Given the description of an element on the screen output the (x, y) to click on. 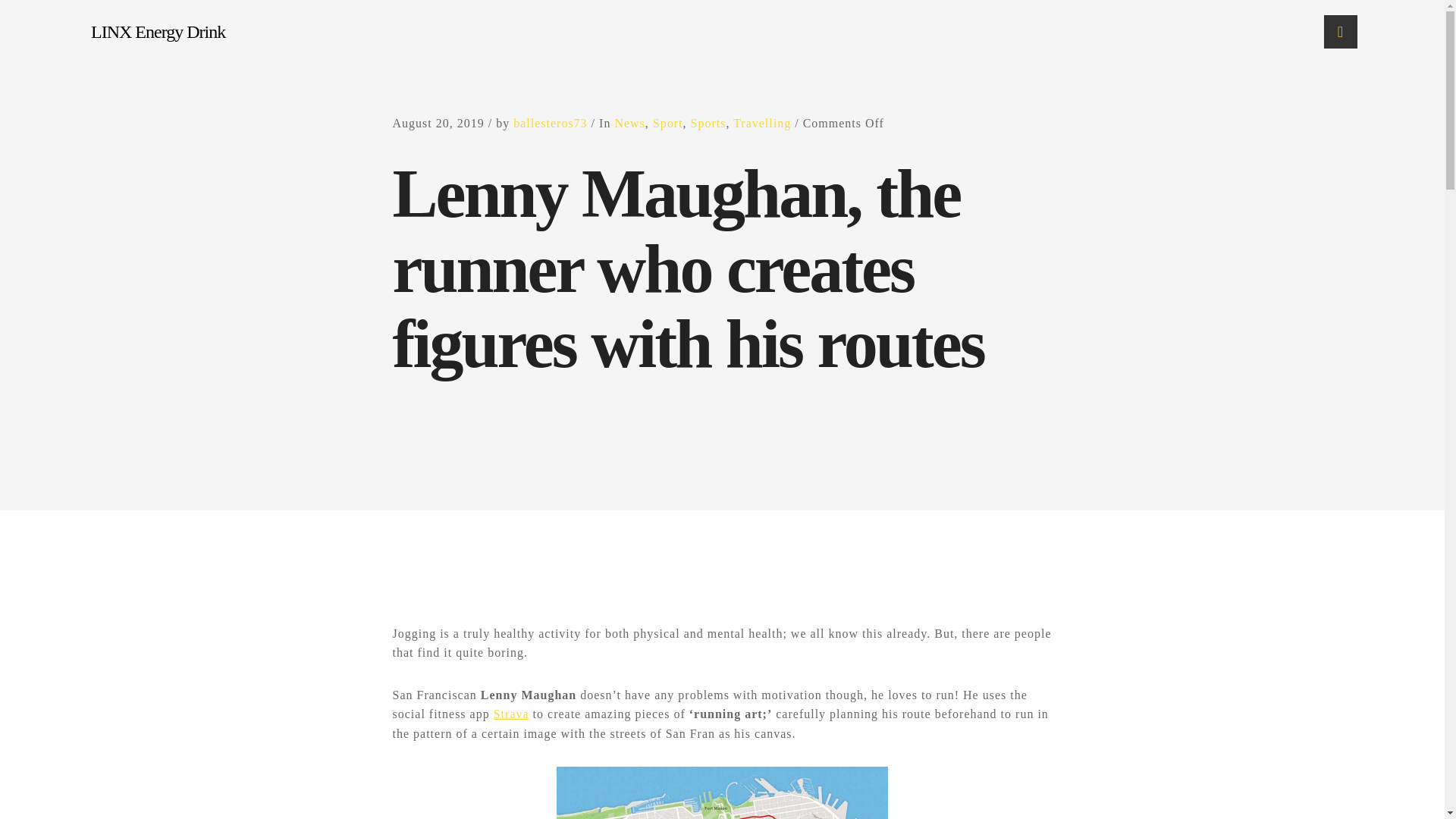
Sport (667, 123)
Travelling (761, 123)
ballesteros73 (549, 123)
News (629, 123)
Sports (707, 123)
LINX Energy Drink (124, 32)
Strava (511, 713)
